Given the description of an element on the screen output the (x, y) to click on. 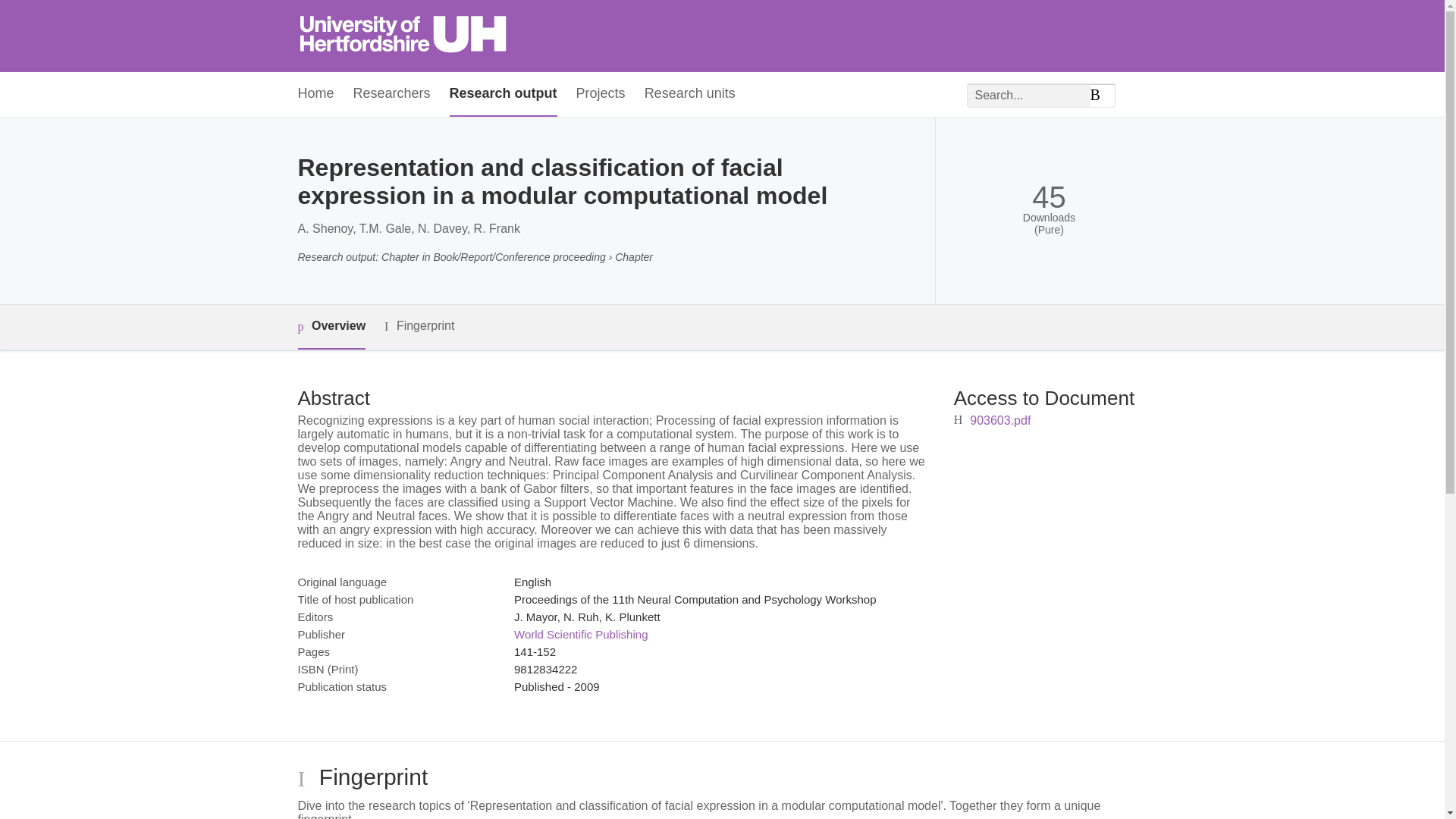
903603.pdf (999, 420)
Fingerprint (419, 326)
Projects (601, 94)
Overview (331, 326)
Researchers (391, 94)
Research output (503, 94)
Research units (690, 94)
World Scientific Publishing (580, 634)
